Given the description of an element on the screen output the (x, y) to click on. 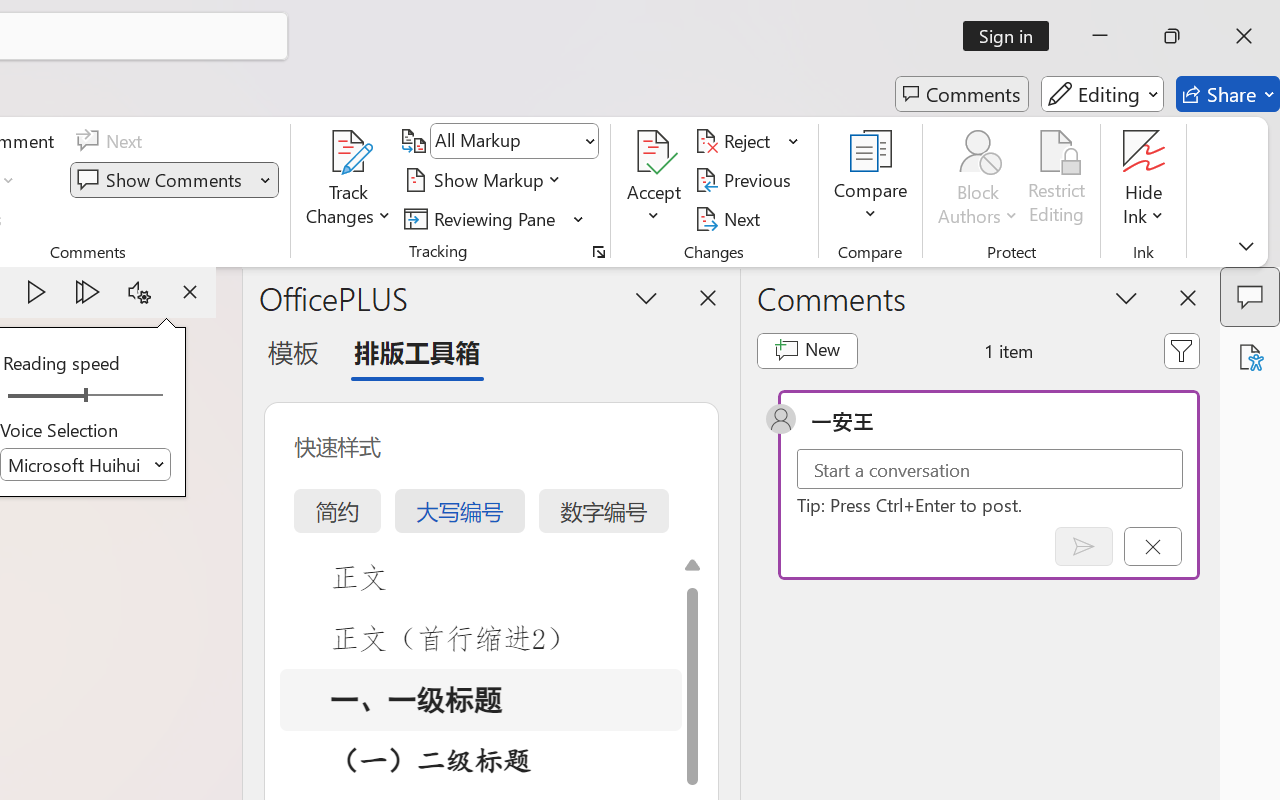
Previous (745, 179)
Next (730, 218)
Display for Review (514, 141)
New comment (806, 350)
Change Tracking Options... (598, 252)
Next Paragraph (87, 292)
Block Authors (977, 179)
Filter (1181, 350)
